Given the description of an element on the screen output the (x, y) to click on. 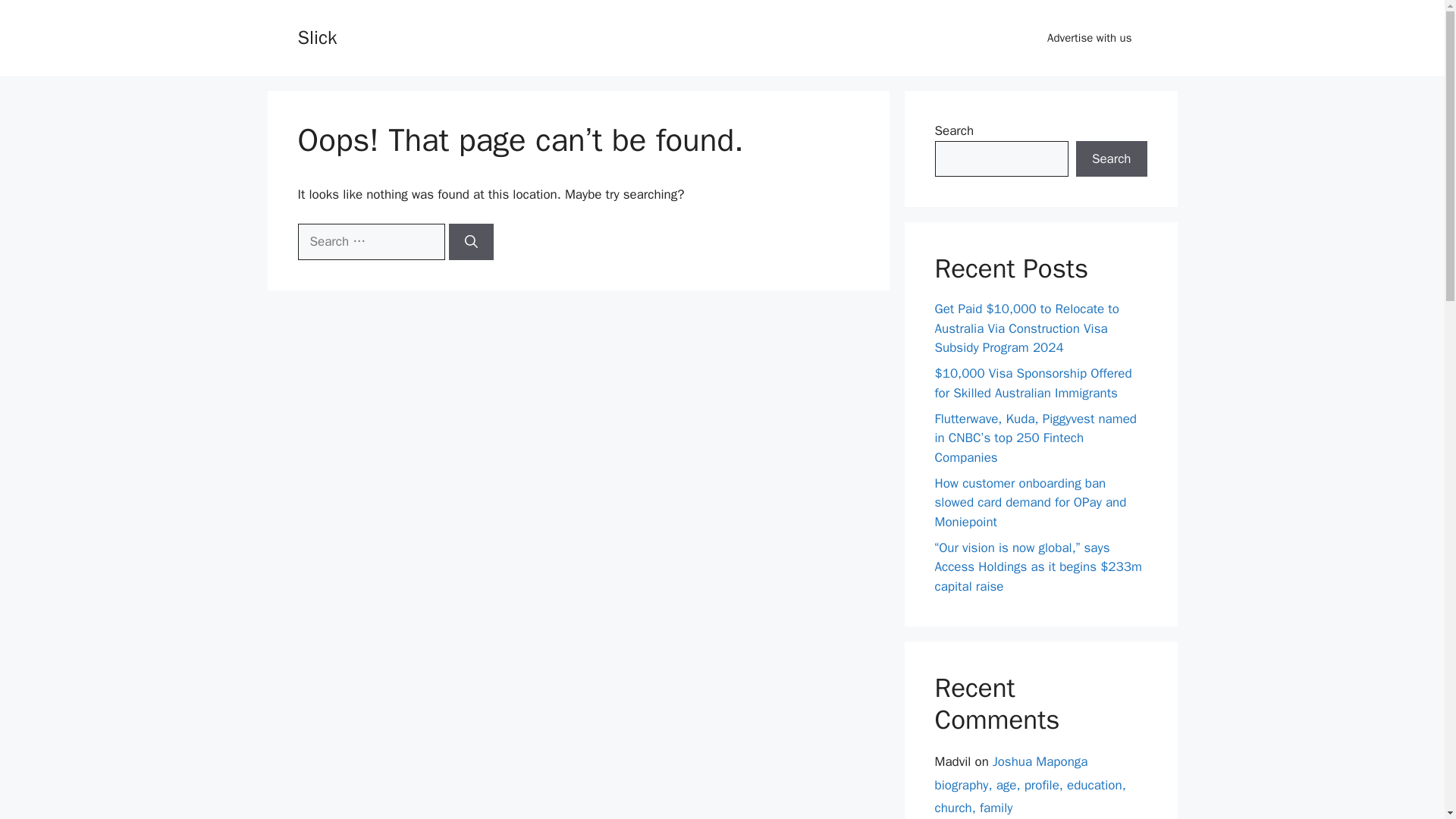
Slick (316, 37)
Search for: (370, 241)
Search (1111, 158)
Advertise with us (1089, 37)
